Given the description of an element on the screen output the (x, y) to click on. 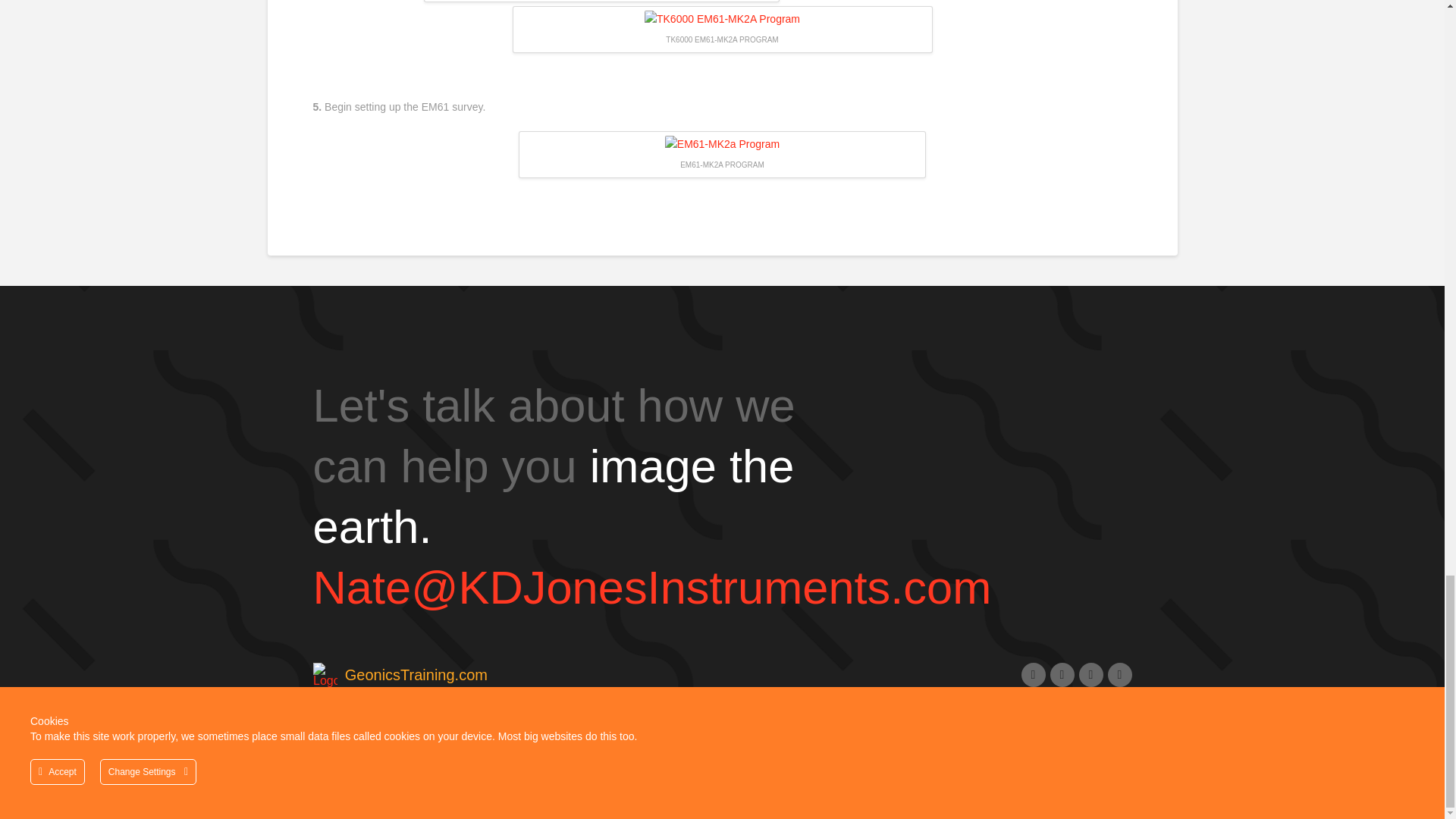
PRIVACY (466, 797)
EM61-MK2 Program (721, 144)
GeonicsTraining.com (399, 674)
CAREERS (341, 797)
TK6000 EM61-MK2 Program (722, 19)
TERMS (405, 797)
